Given the description of an element on the screen output the (x, y) to click on. 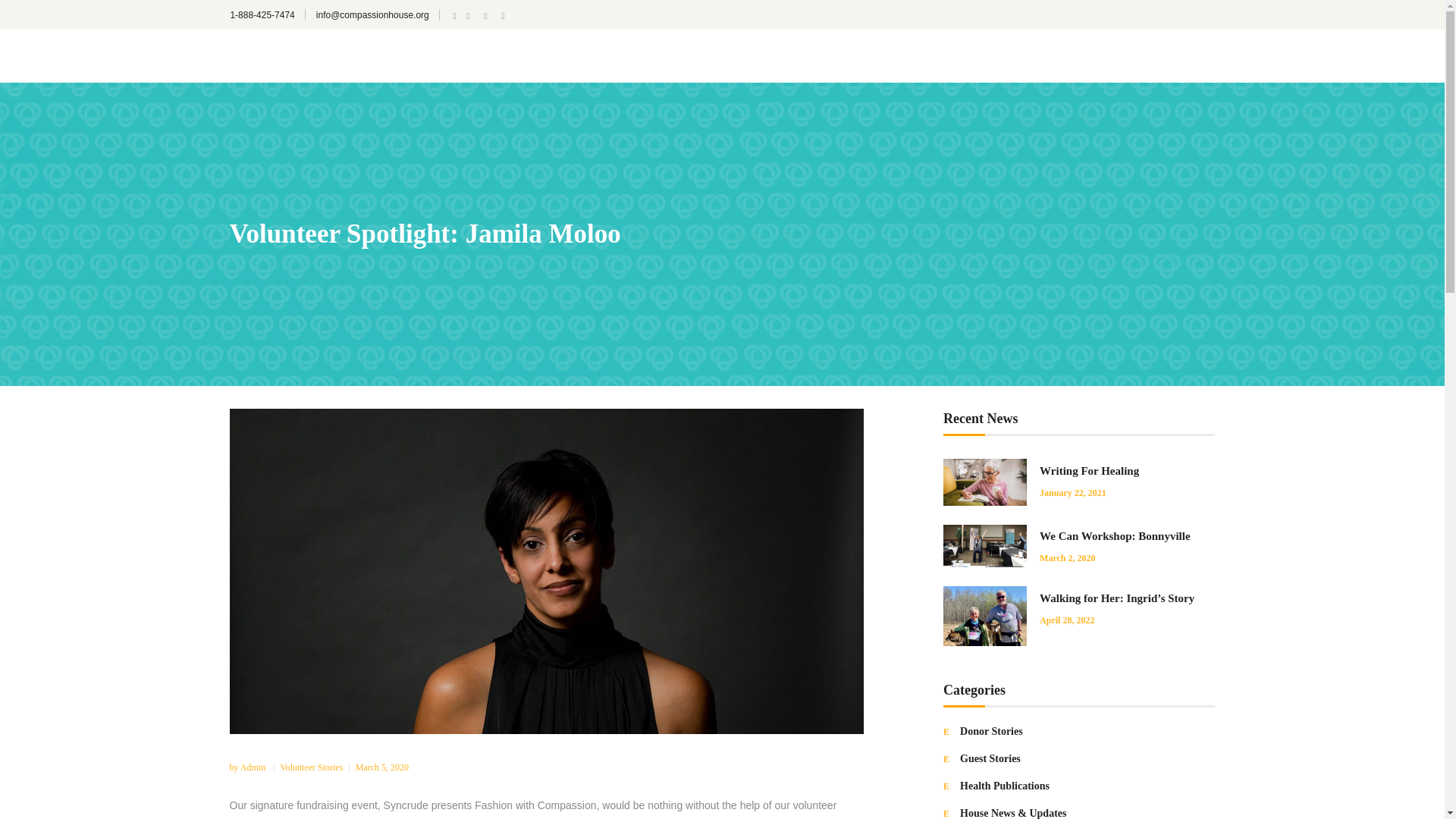
Our Work (1005, 55)
Support (1072, 55)
Donate (1191, 56)
About (943, 55)
1-888-425-7474 (262, 14)
